Given the description of an element on the screen output the (x, y) to click on. 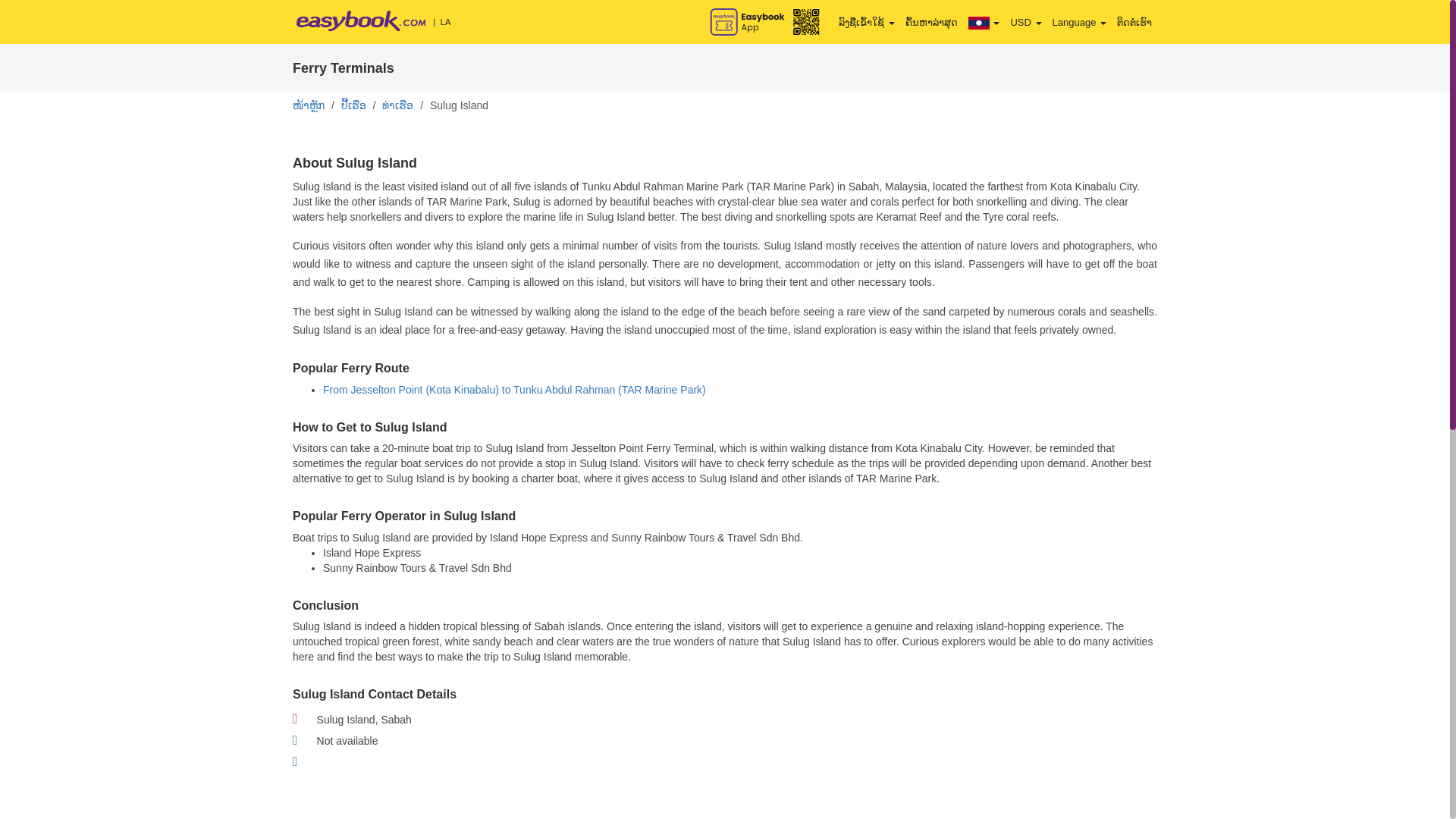
USD (1025, 22)
Language (1079, 22)
